Given the description of an element on the screen output the (x, y) to click on. 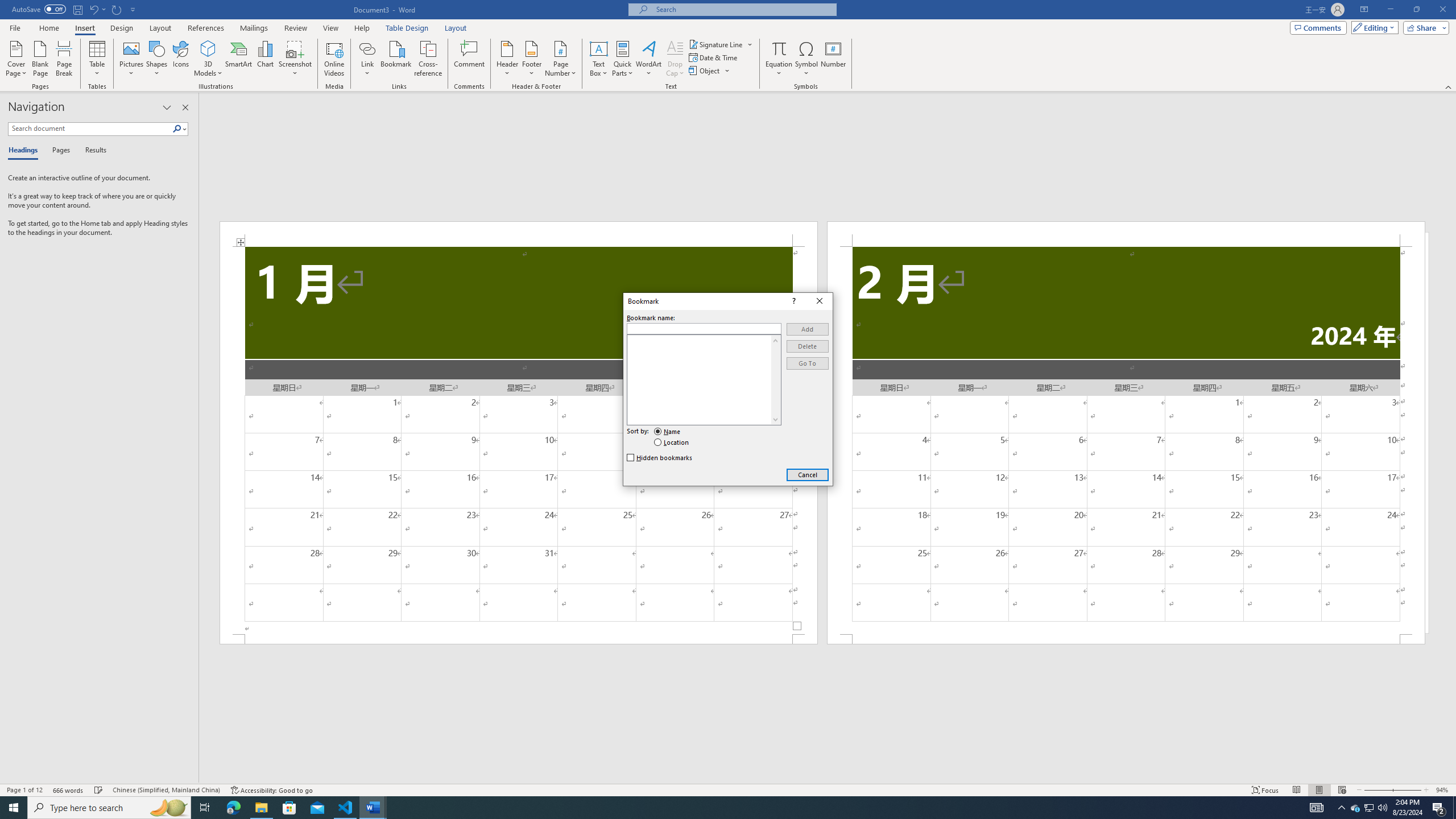
Ribbon Display Options (1364, 9)
Link (367, 48)
Language Chinese (Simplified, Mainland China) (165, 790)
Visual Studio Code - 1 running window (345, 807)
User Promoted Notification Area (1368, 807)
Insert (83, 28)
Link (367, 58)
Q2790: 100% (1382, 807)
Word - 2 running windows (373, 807)
Undo Increase Indent (92, 9)
Hidden bookmarks (660, 457)
